Given the description of an element on the screen output the (x, y) to click on. 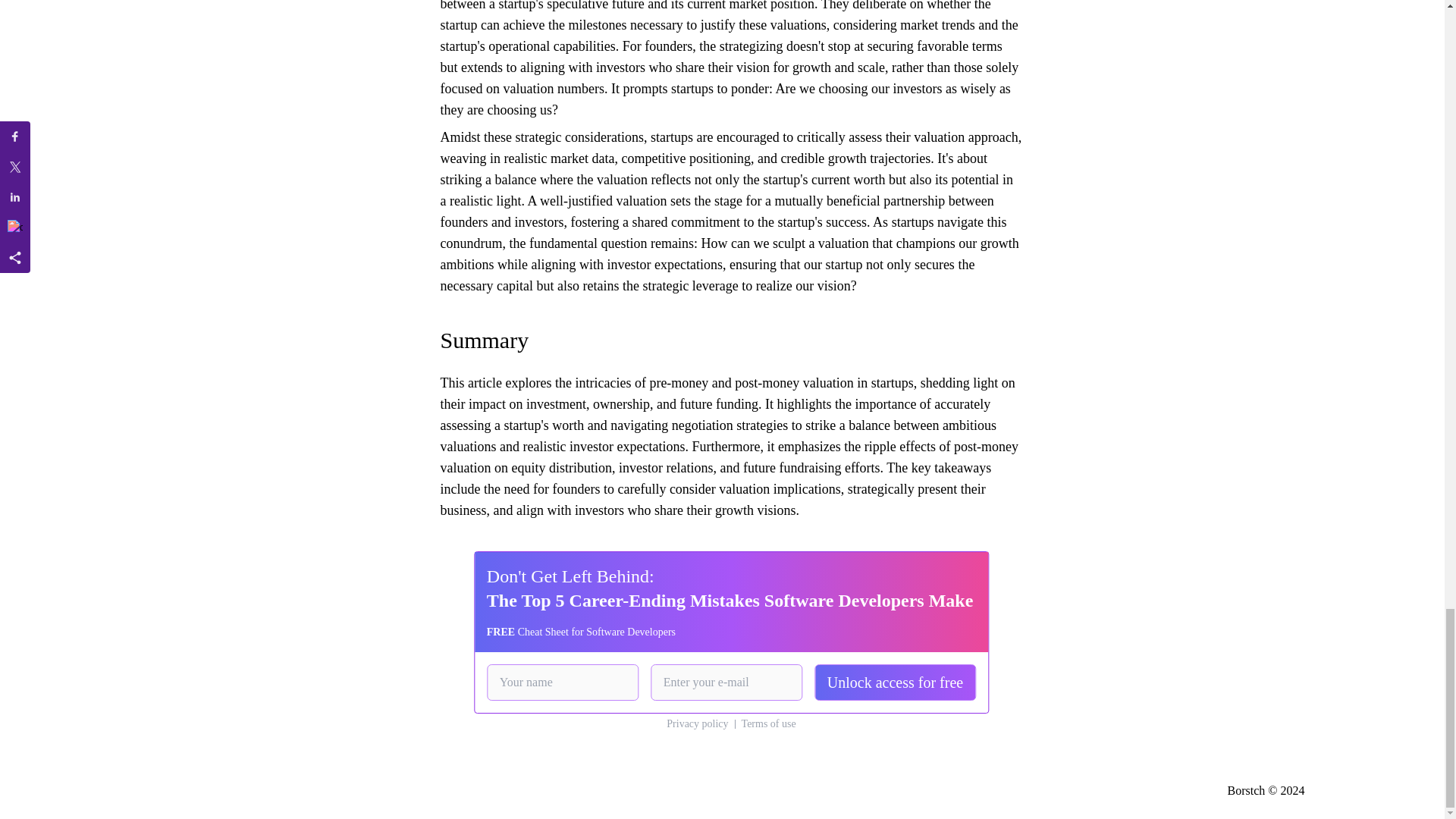
Unlock access for free (894, 682)
Terms of use (768, 724)
Privacy policy (697, 724)
